Given the description of an element on the screen output the (x, y) to click on. 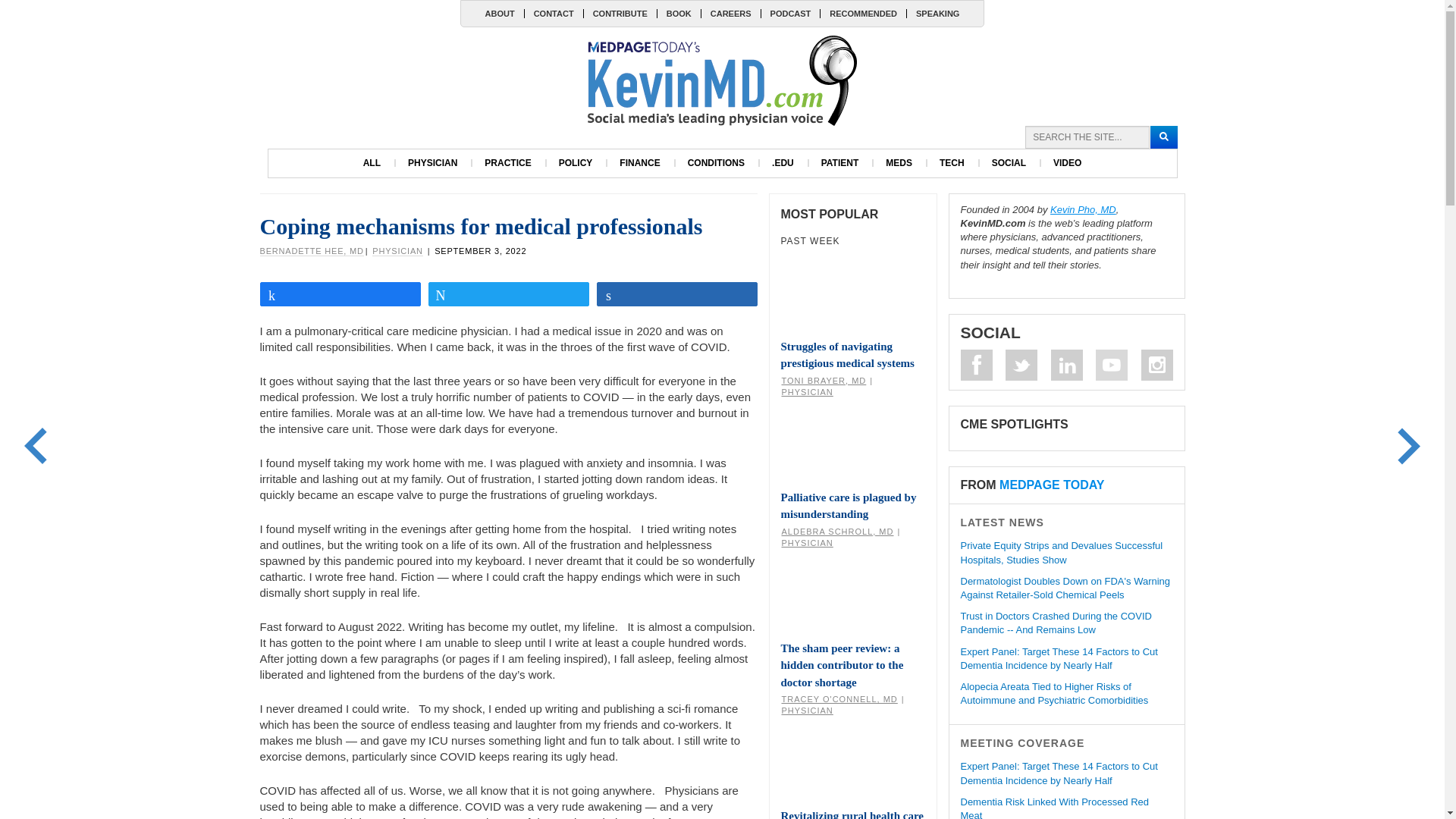
PODCAST (790, 13)
CONTACT (553, 13)
BOOK (678, 13)
SPEAKING (936, 13)
CONDITIONS (716, 163)
FINANCE (638, 163)
PHYSICIAN (432, 163)
PATIENT (840, 163)
TECH (952, 163)
MEDS (899, 163)
